Given the description of an element on the screen output the (x, y) to click on. 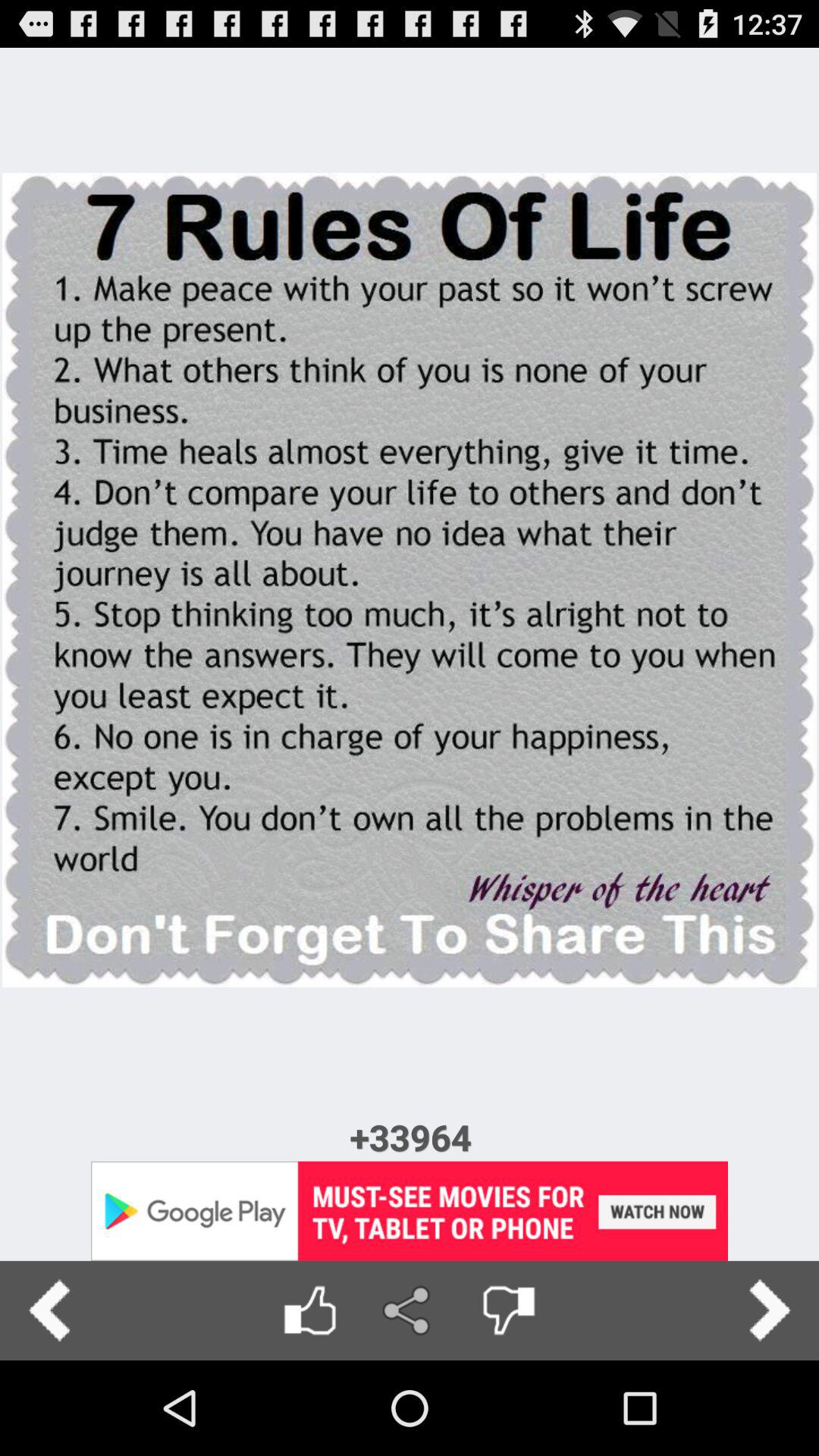
share the article (408, 1310)
